Given the description of an element on the screen output the (x, y) to click on. 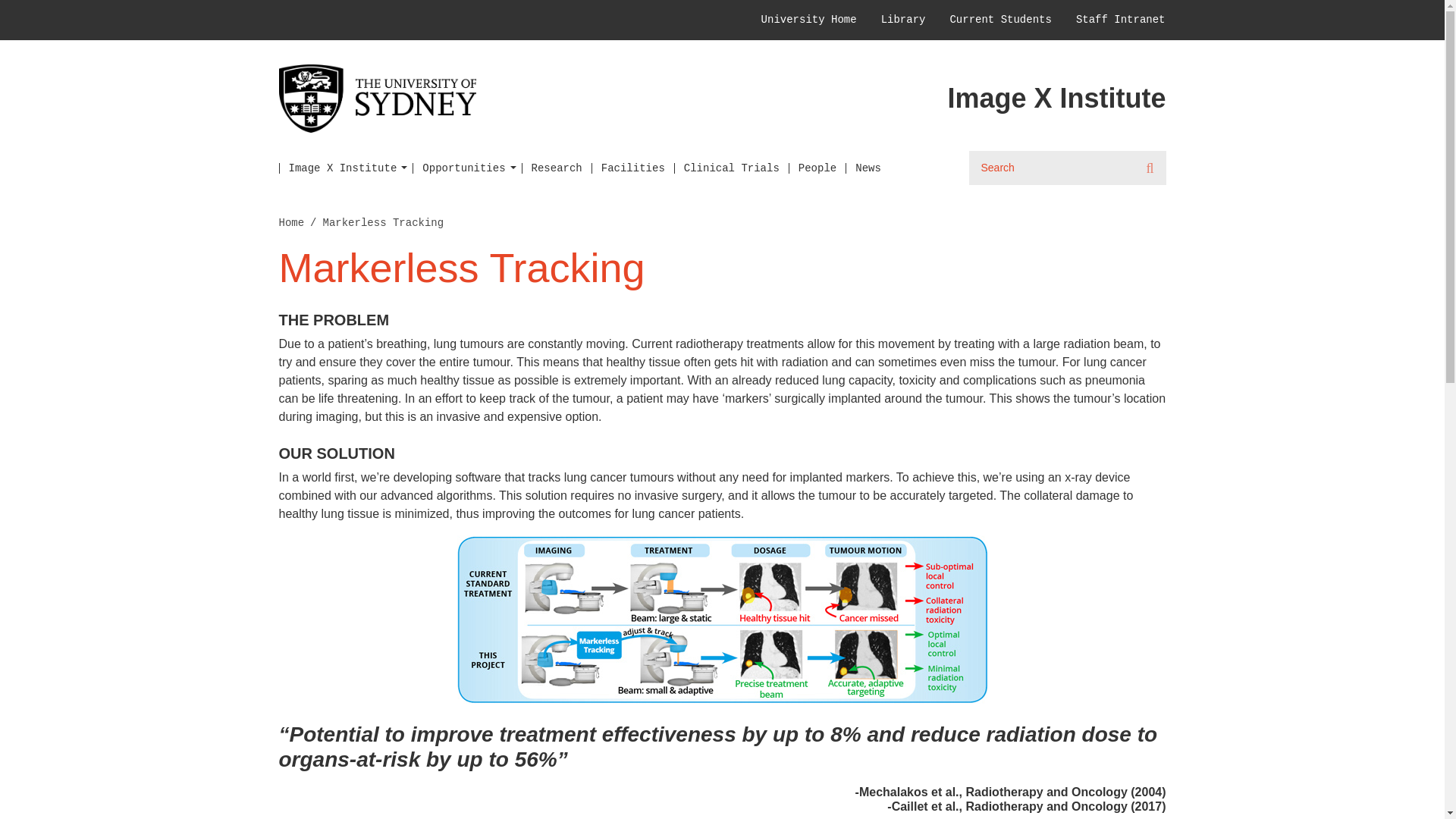
Clinical Trials (731, 167)
Research (556, 167)
Facilities (632, 167)
News (867, 167)
Search (1151, 168)
University Home (809, 19)
People (817, 167)
Current Students (999, 19)
People (817, 167)
Research (556, 167)
Image X Institute (346, 167)
Library (903, 19)
University Home (809, 19)
Home (291, 223)
News (867, 167)
